Given the description of an element on the screen output the (x, y) to click on. 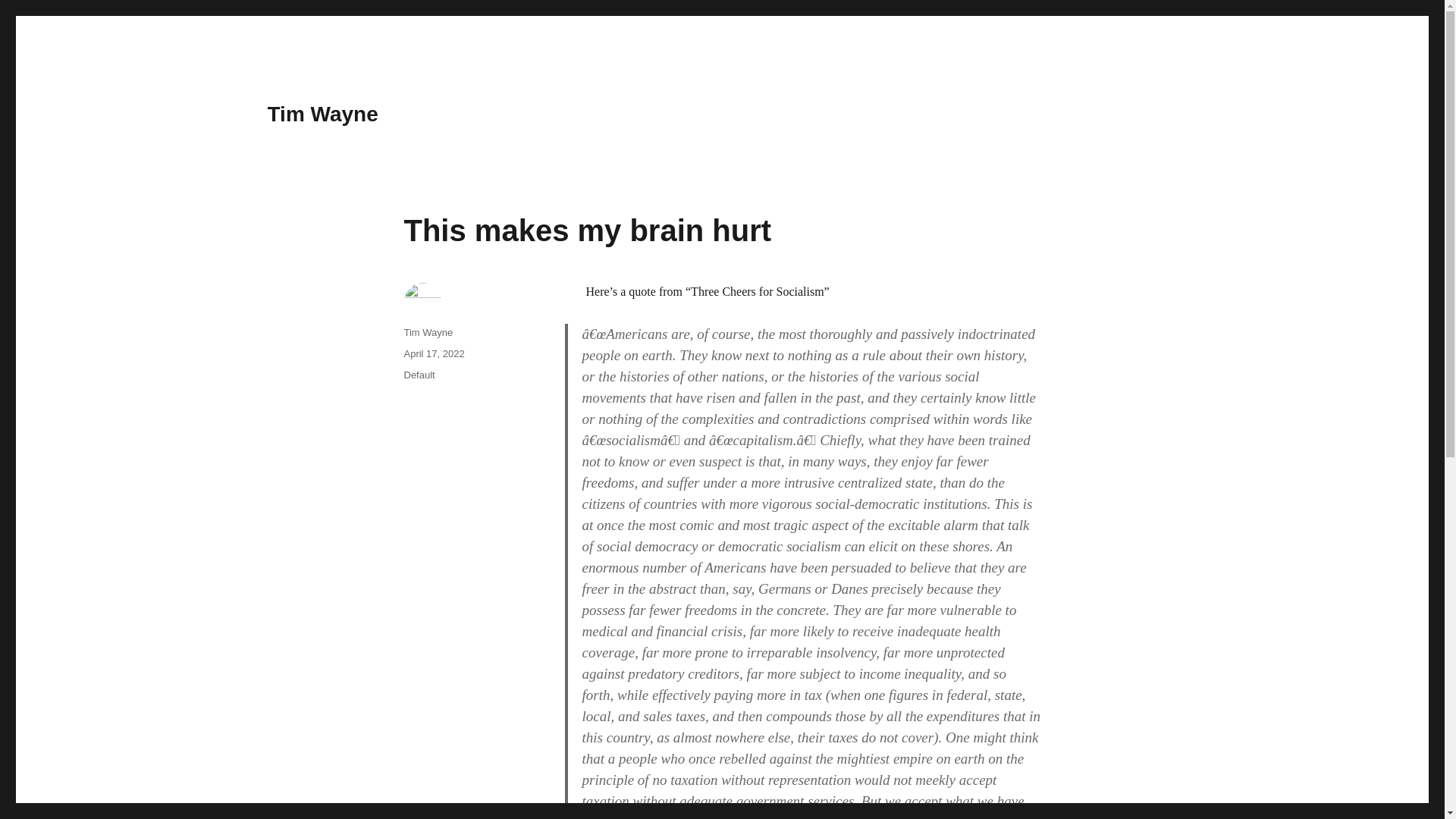
April 17, 2022 (433, 353)
Tim Wayne (427, 332)
Tim Wayne (321, 114)
Default (418, 374)
